Given the description of an element on the screen output the (x, y) to click on. 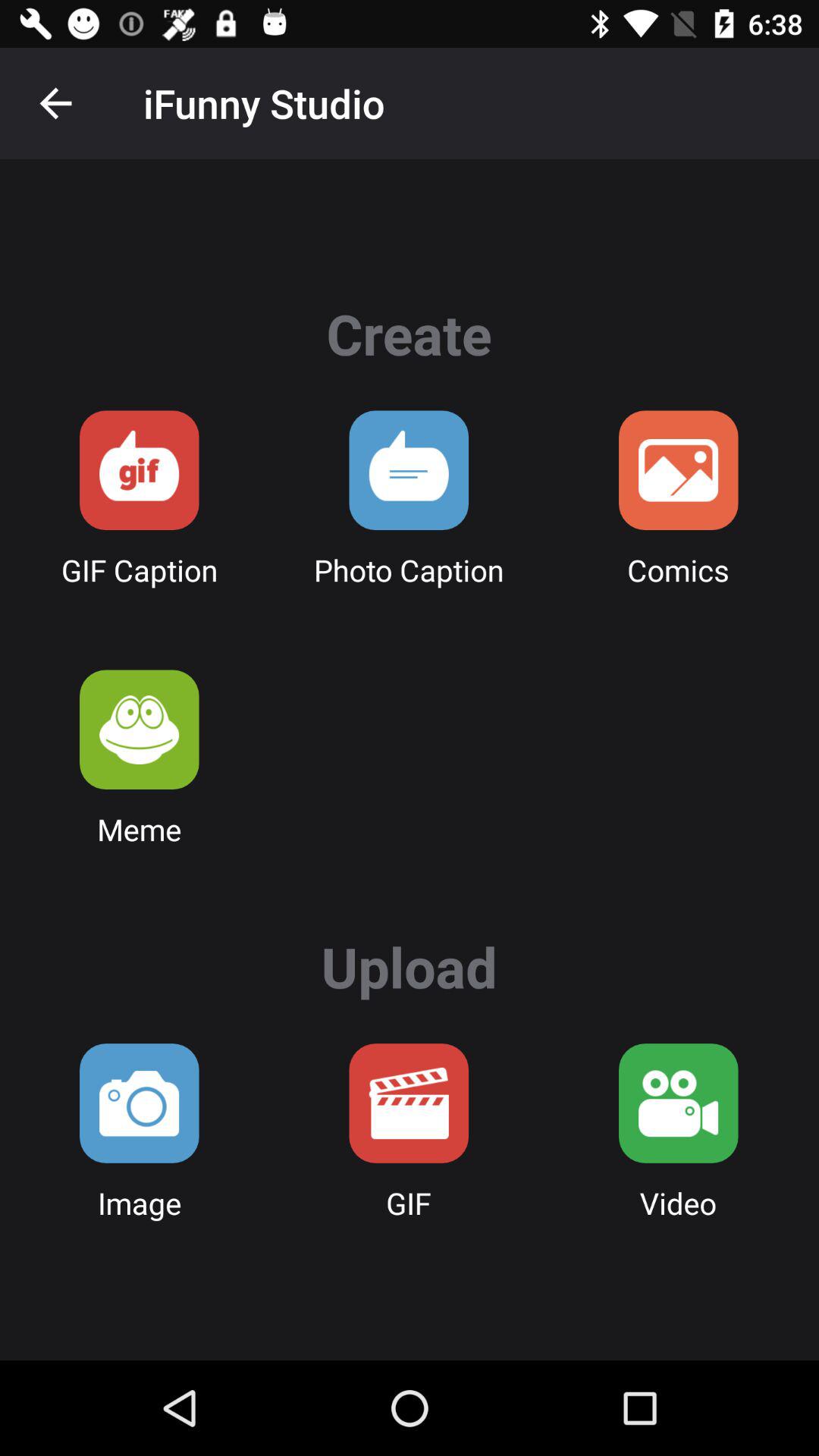
take photo to upload (139, 1103)
